Given the description of an element on the screen output the (x, y) to click on. 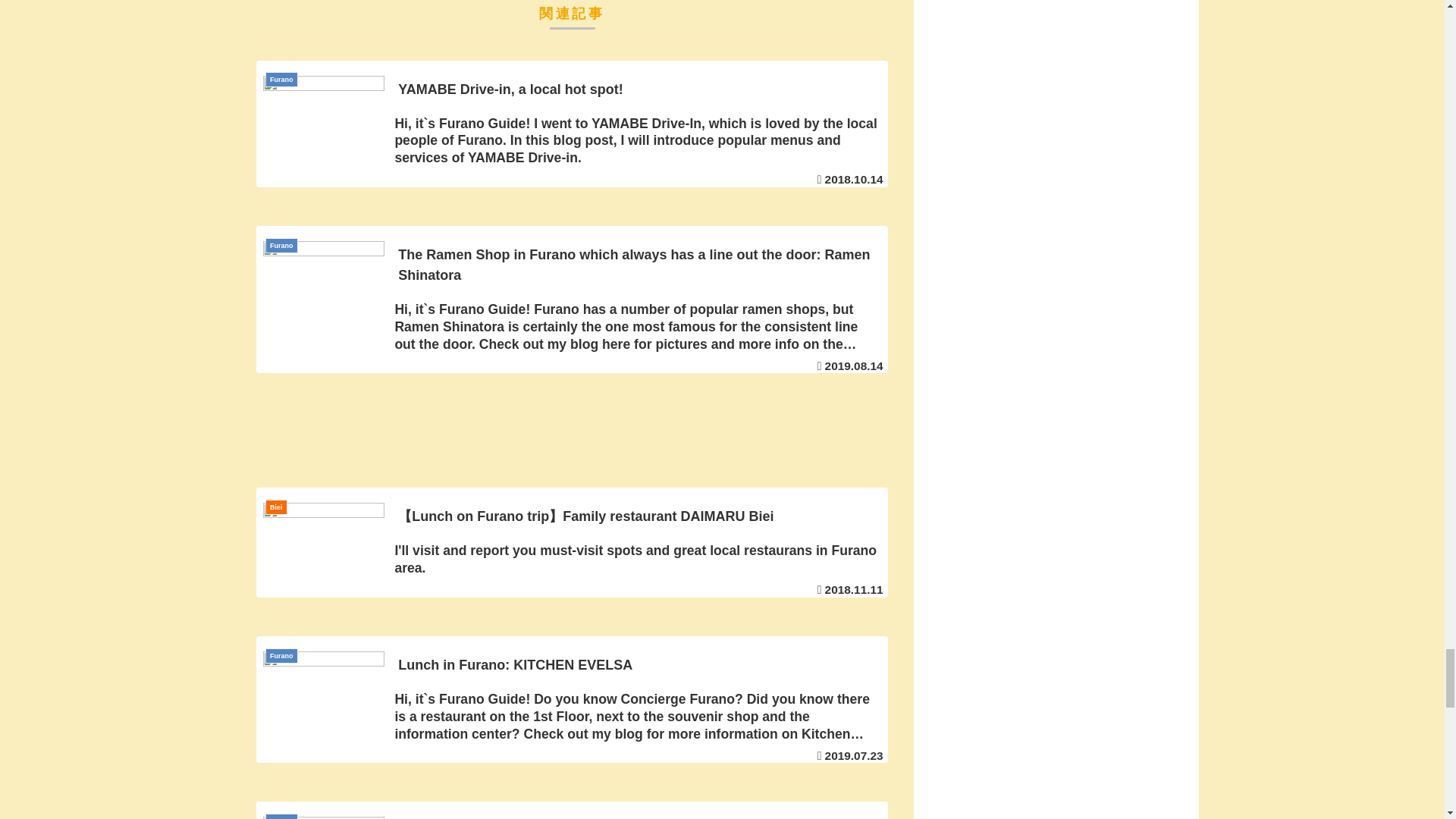
Lunch in Furano: KITCHEN EVELSA (572, 699)
YAMABE Drive-in, a local hot spot! (572, 123)
